Given the description of an element on the screen output the (x, y) to click on. 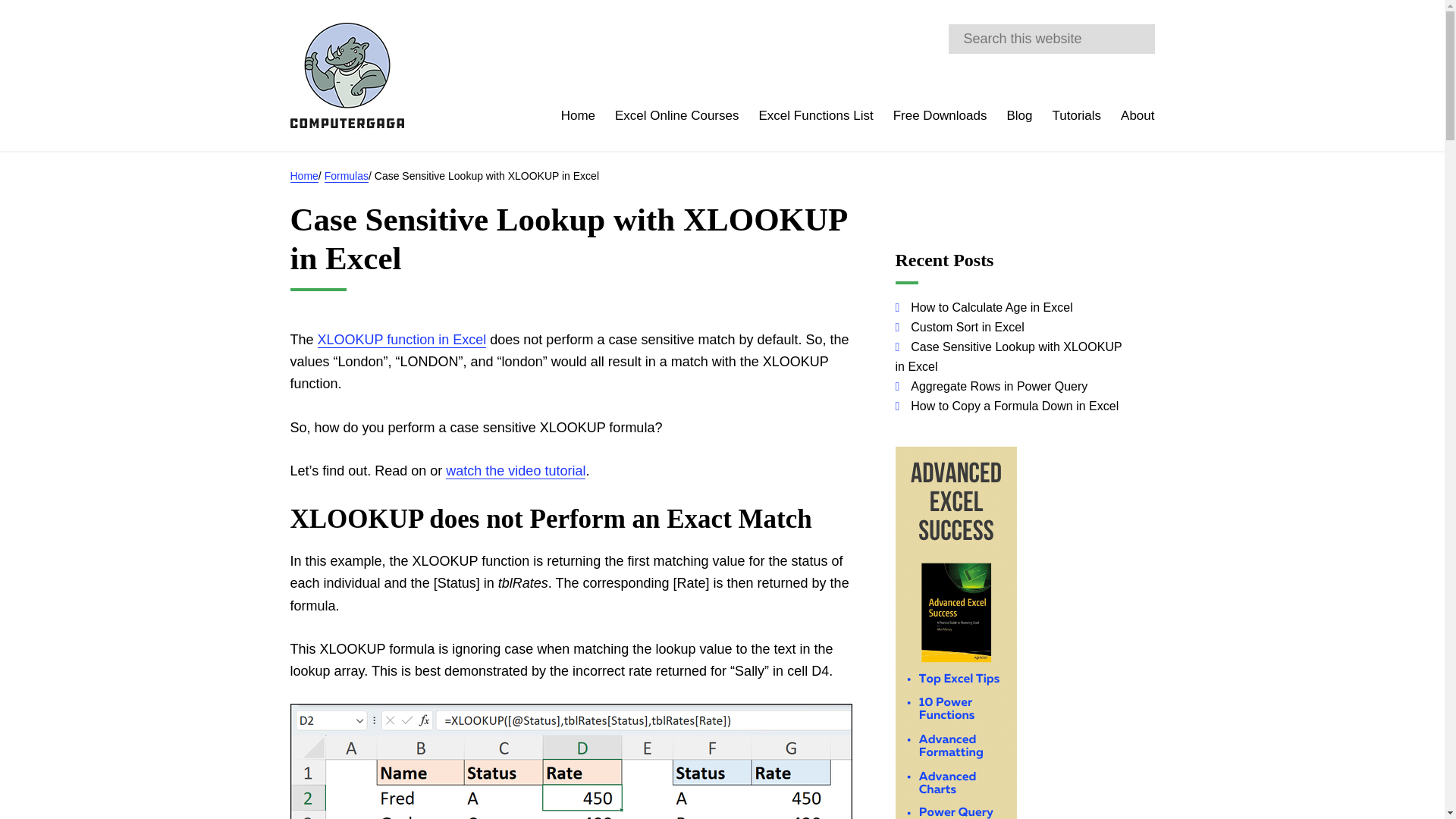
Excel Functions List (815, 118)
XLOOKUP function in Excel (401, 340)
Microsoft Excel Tips and Tricks - Computergaga (346, 74)
watch the video tutorial (515, 471)
Home (577, 118)
Free Downloads (940, 118)
Tutorials (1077, 118)
About (1137, 118)
Formulas (346, 175)
Home (303, 175)
Blog (1019, 118)
